Given the description of an element on the screen output the (x, y) to click on. 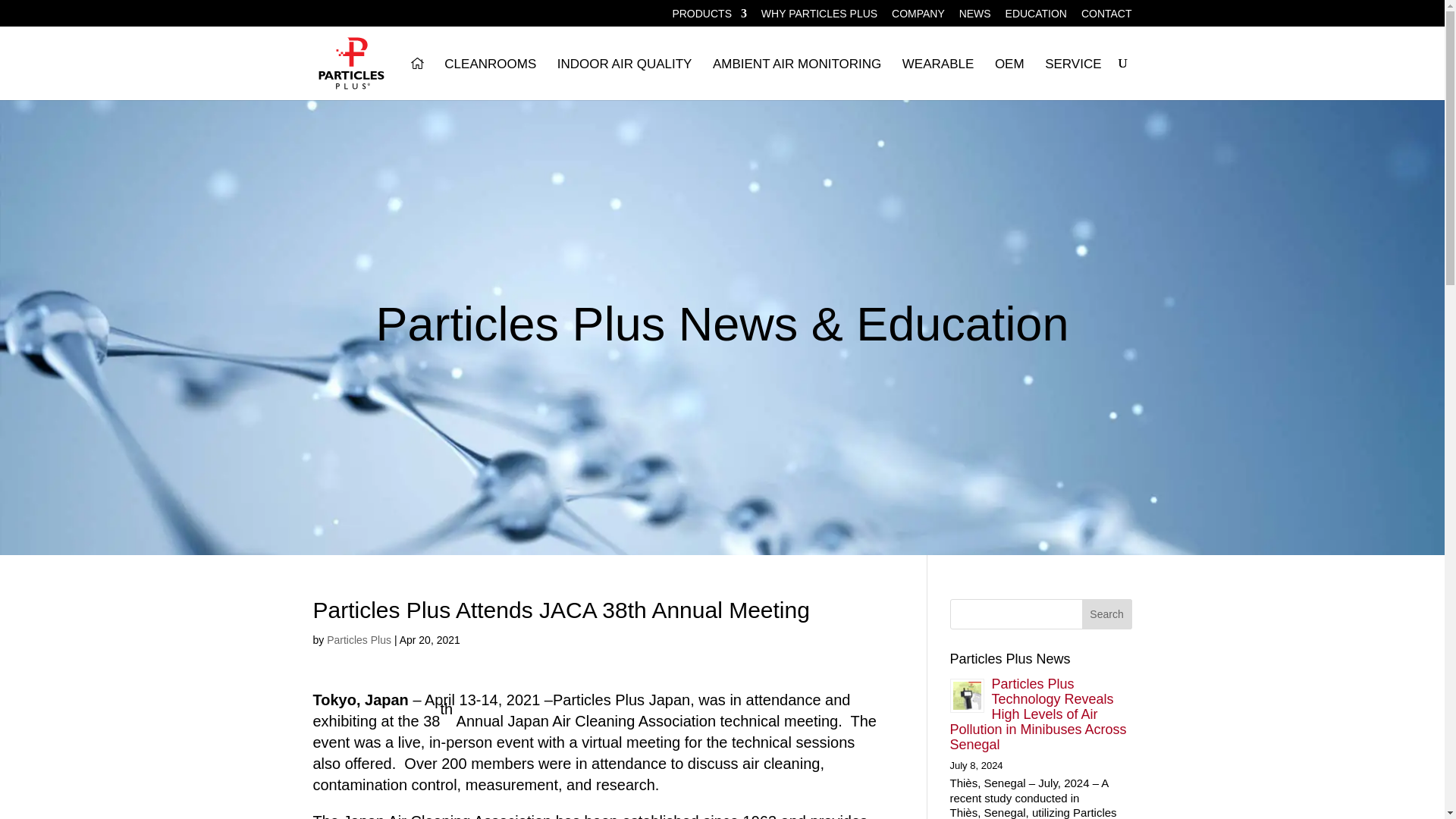
Posts by Particles Plus (358, 639)
AMBIENT AIR MONITORING (796, 78)
WEARABLE (938, 78)
INDOOR AIR QUALITY (625, 78)
PRODUCTS (708, 16)
EDUCATION (1036, 16)
CONTACT (1106, 16)
CLEANROOMS (489, 78)
NEWS (975, 16)
Search (1106, 613)
